Given the description of an element on the screen output the (x, y) to click on. 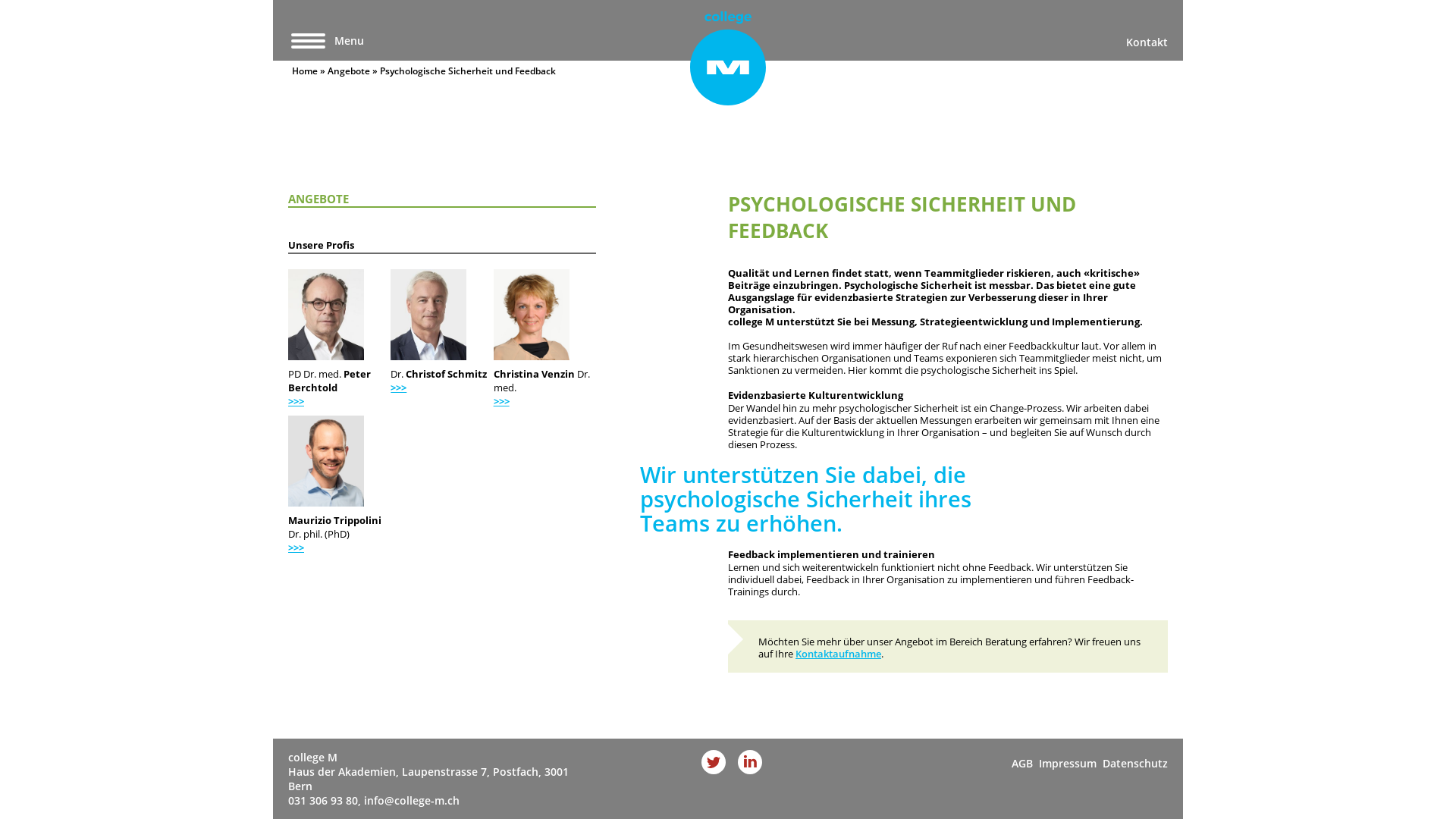
>>> Element type: text (398, 387)
Kontakt Element type: text (1144, 42)
Christina Venzin Element type: hover (531, 314)
Peter Berchtold Element type: hover (326, 314)
Home Element type: text (304, 70)
>>> Element type: text (296, 547)
Datenschutz Element type: text (1131, 762)
Kontaktaufnahme Element type: text (838, 653)
Maurizio Trippolini Element type: hover (326, 460)
>>> Element type: text (296, 400)
Angebote Element type: text (348, 70)
>>> Element type: text (501, 400)
info@college-m.ch Element type: text (411, 800)
Christof Schmitz Element type: hover (428, 314)
AGB Element type: text (1021, 762)
Impressum Element type: text (1064, 762)
